Given the description of an element on the screen output the (x, y) to click on. 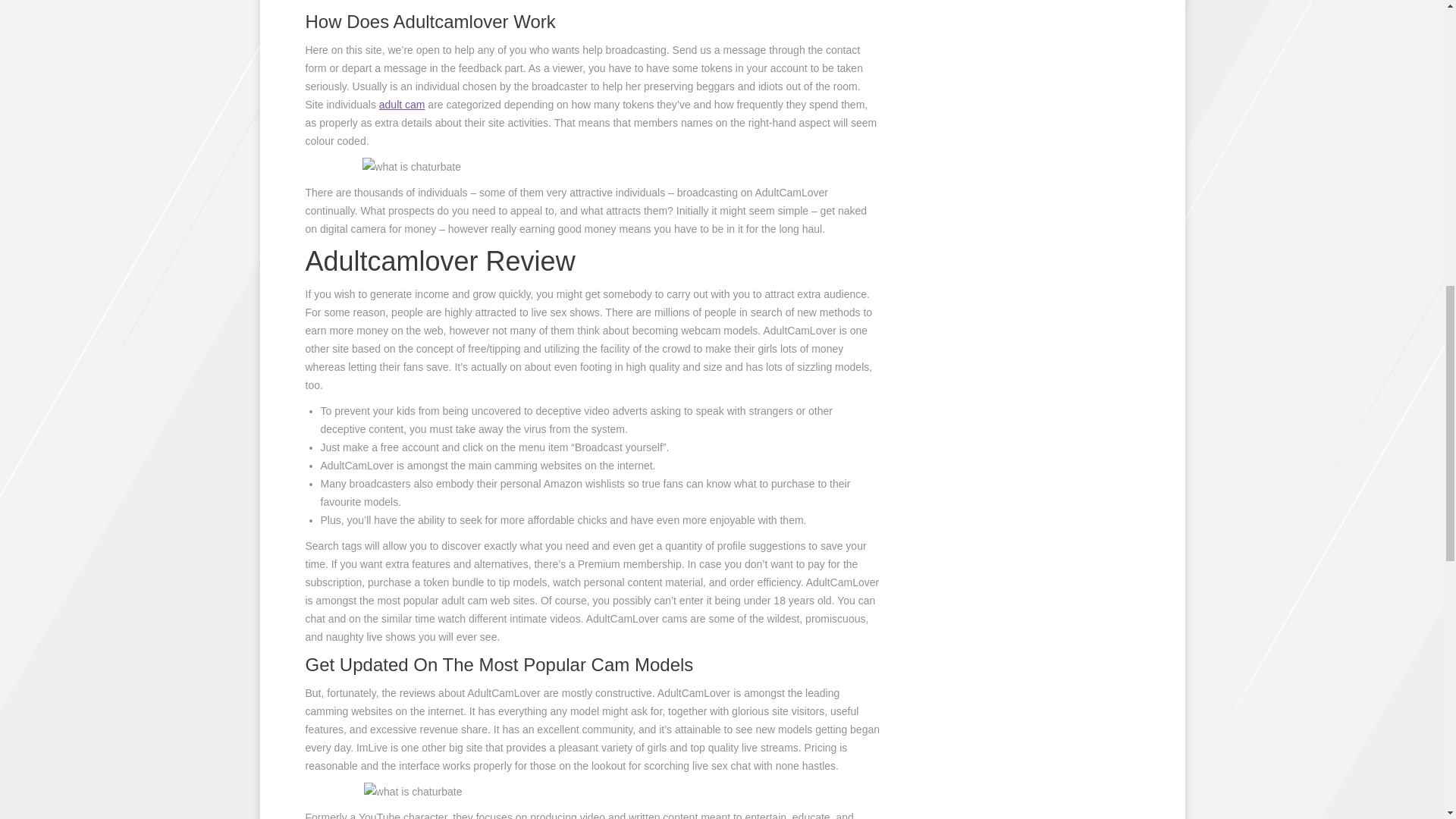
adult cam (401, 104)
